Given the description of an element on the screen output the (x, y) to click on. 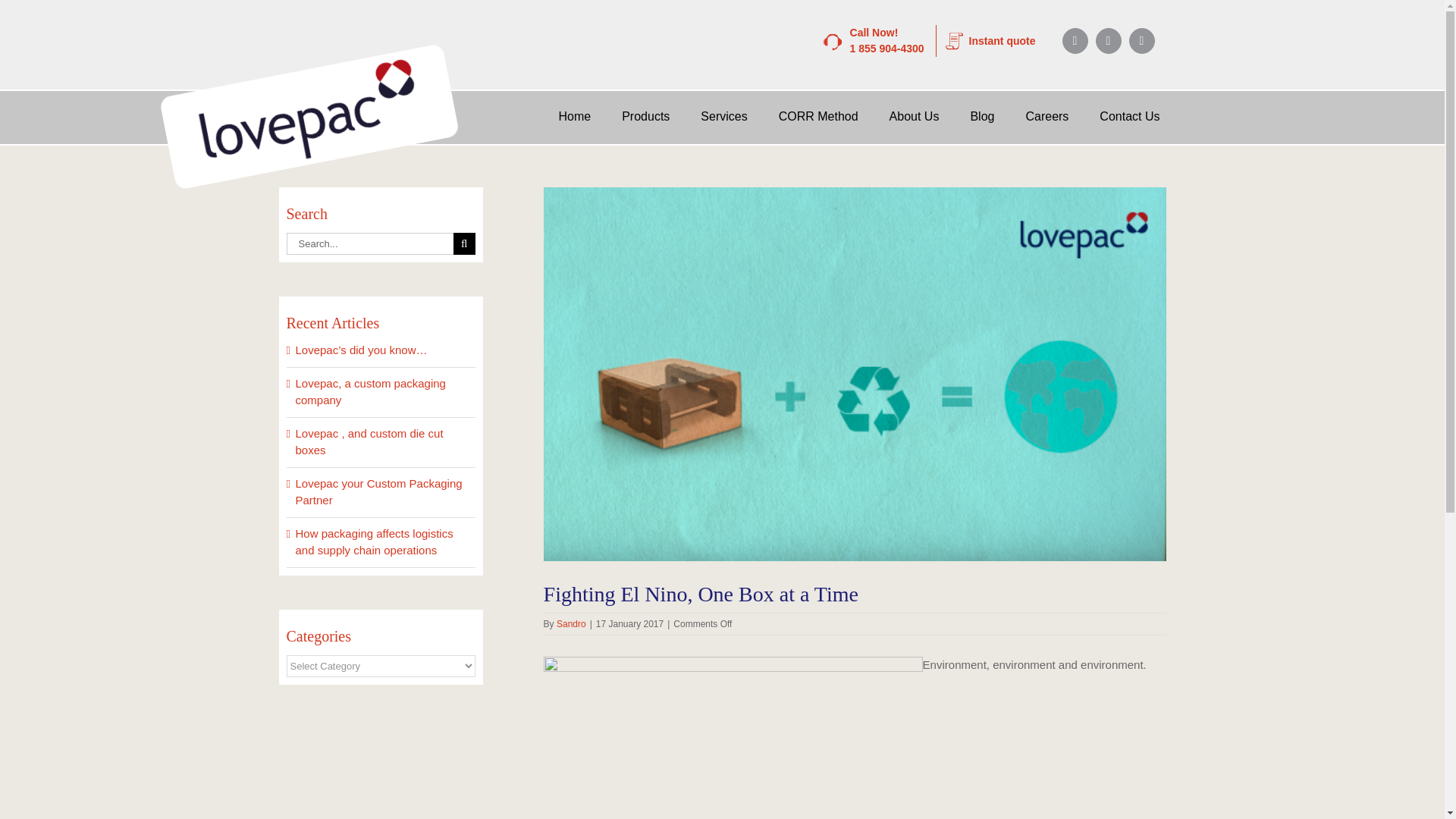
LinkedIn (1141, 40)
Posts by Sandro (571, 624)
Facebook (1074, 40)
Facebook (1074, 40)
CORR Method (893, 40)
Services (818, 117)
Instant quote (723, 117)
LinkedIn (1007, 41)
X (1141, 40)
